Given the description of an element on the screen output the (x, y) to click on. 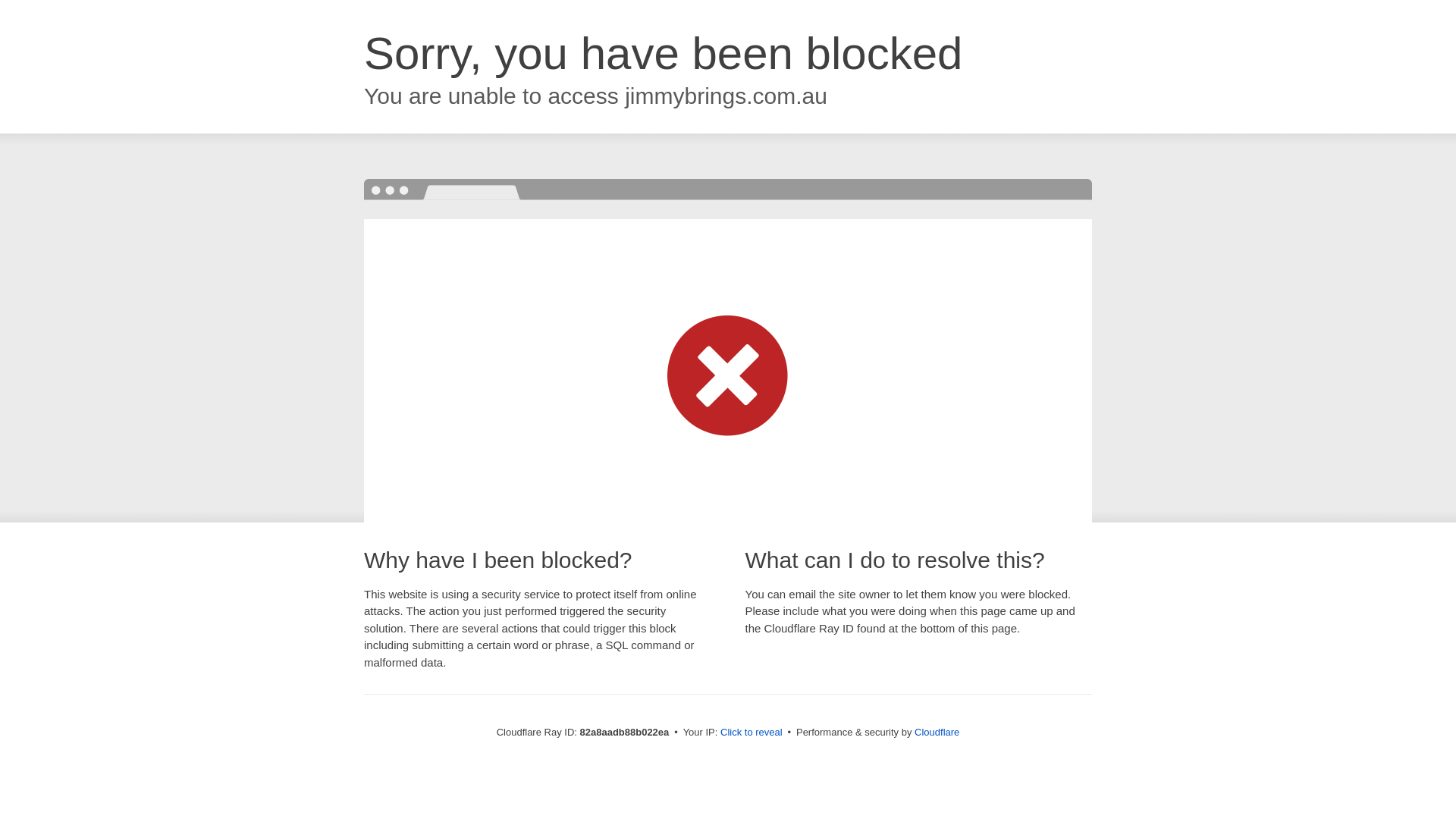
Cloudflare Element type: text (936, 731)
Click to reveal Element type: text (751, 732)
